Given the description of an element on the screen output the (x, y) to click on. 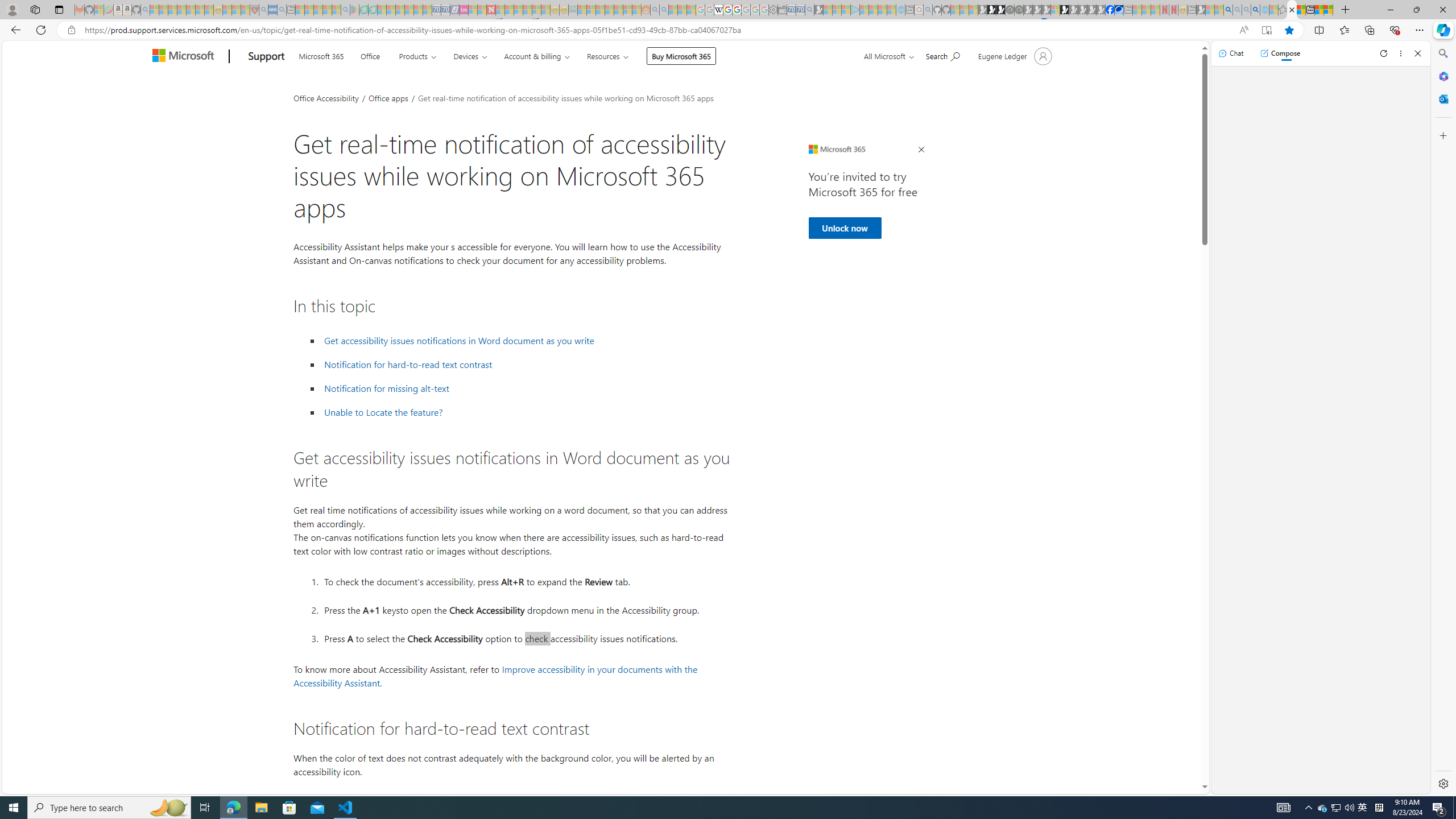
Bing AI - Search (1227, 9)
utah sues federal government - Search - Sleeping (281, 9)
Buy Microsoft 365 (681, 55)
